Given the description of an element on the screen output the (x, y) to click on. 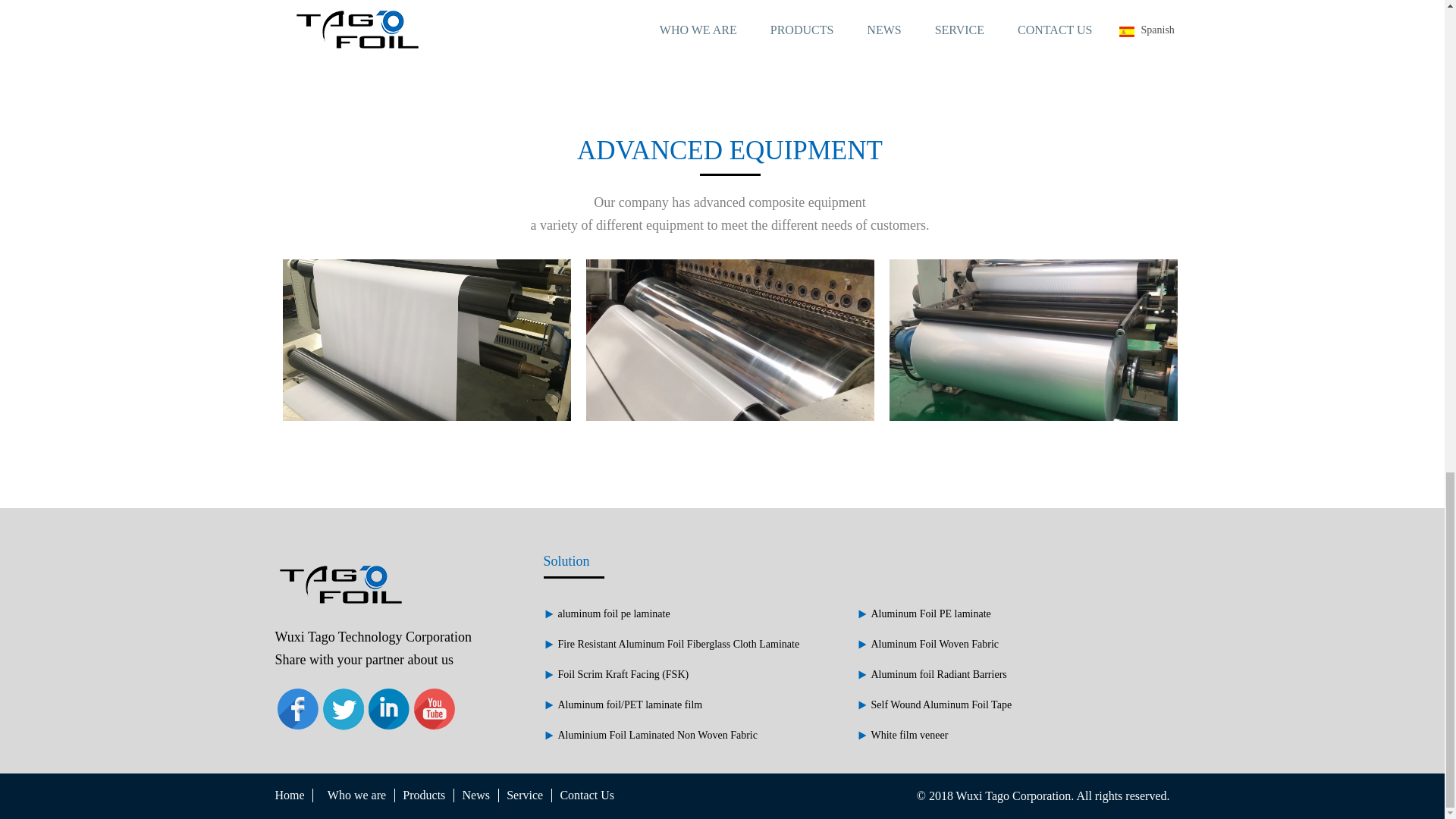
News (476, 794)
Contact Us (586, 794)
aluminum foil pe laminate (613, 613)
Self Wound Aluminum Foil Tape (940, 704)
Fire Resistant Aluminum Foil Fiberglass Cloth Laminate (678, 644)
Home (289, 794)
Aluminum foil Radiant Barriers (938, 674)
Service (524, 794)
Aluminum Foil Woven Fabric (934, 644)
White film veneer (908, 735)
Aluminum Foil PE laminate (930, 613)
Products (424, 794)
Aluminium Foil Laminated Non Woven Fabric (657, 735)
Who we are (353, 794)
